Given the description of an element on the screen output the (x, y) to click on. 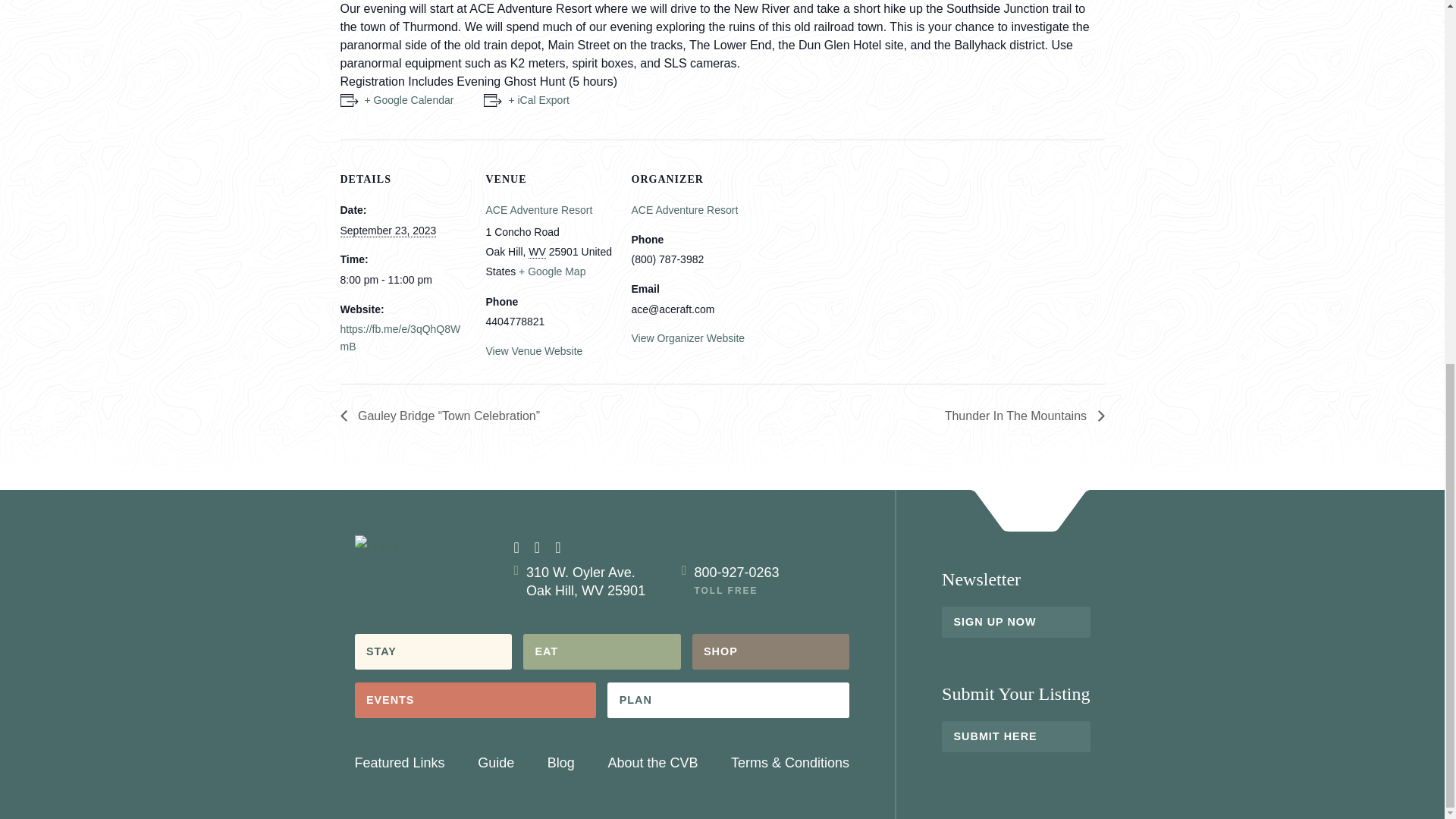
West Virginia (537, 251)
2023-09-23 (387, 230)
Thurmond Ghost Hunt (526, 99)
Click to view a Google Map (551, 271)
ACE Adventure Resort (684, 209)
2023-09-23 (403, 279)
Thurmond Ghost Hunt (395, 99)
